Given the description of an element on the screen output the (x, y) to click on. 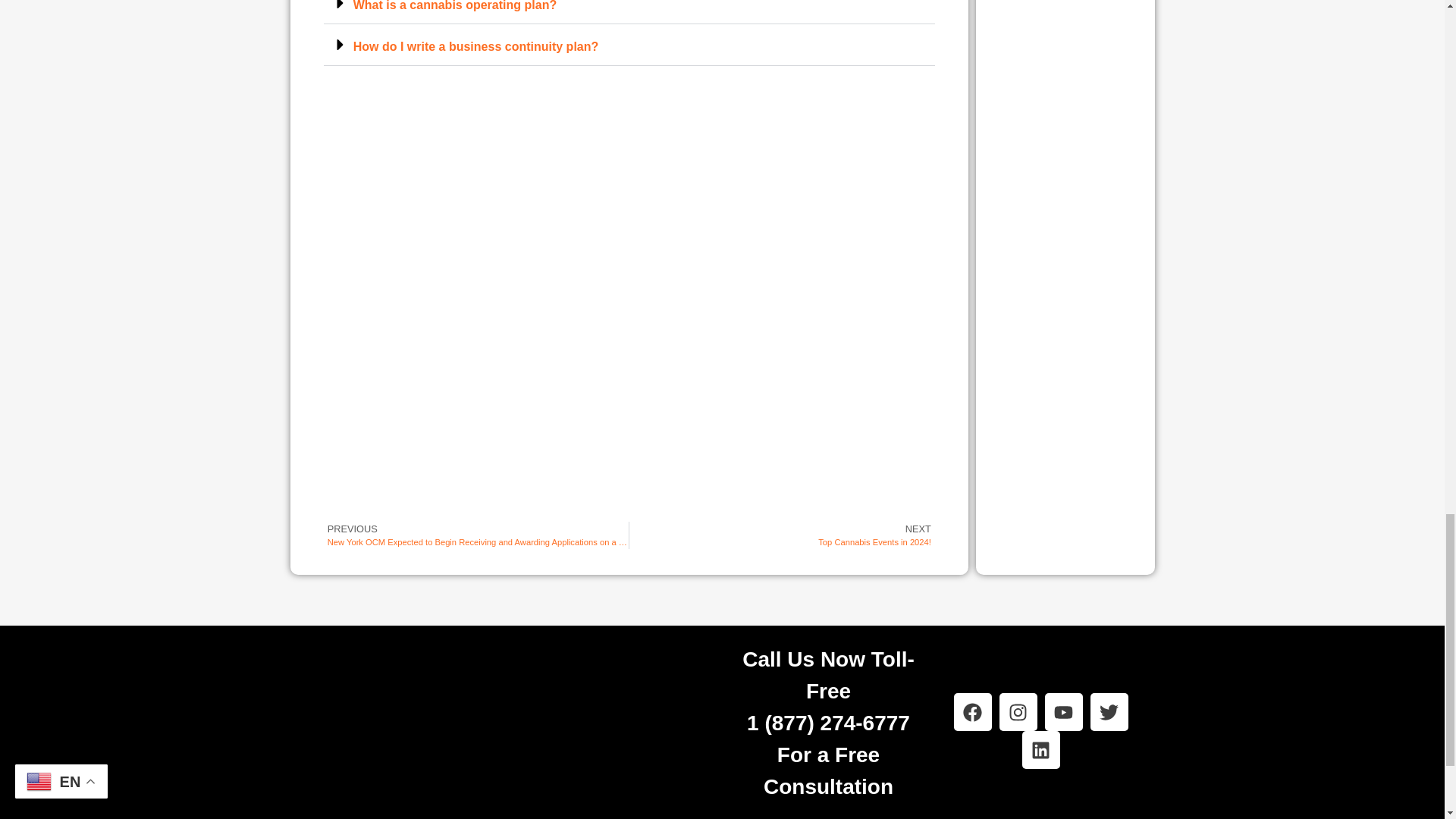
CannDelta-Logo 2022-Revised Tag-KO (403, 731)
